Given the description of an element on the screen output the (x, y) to click on. 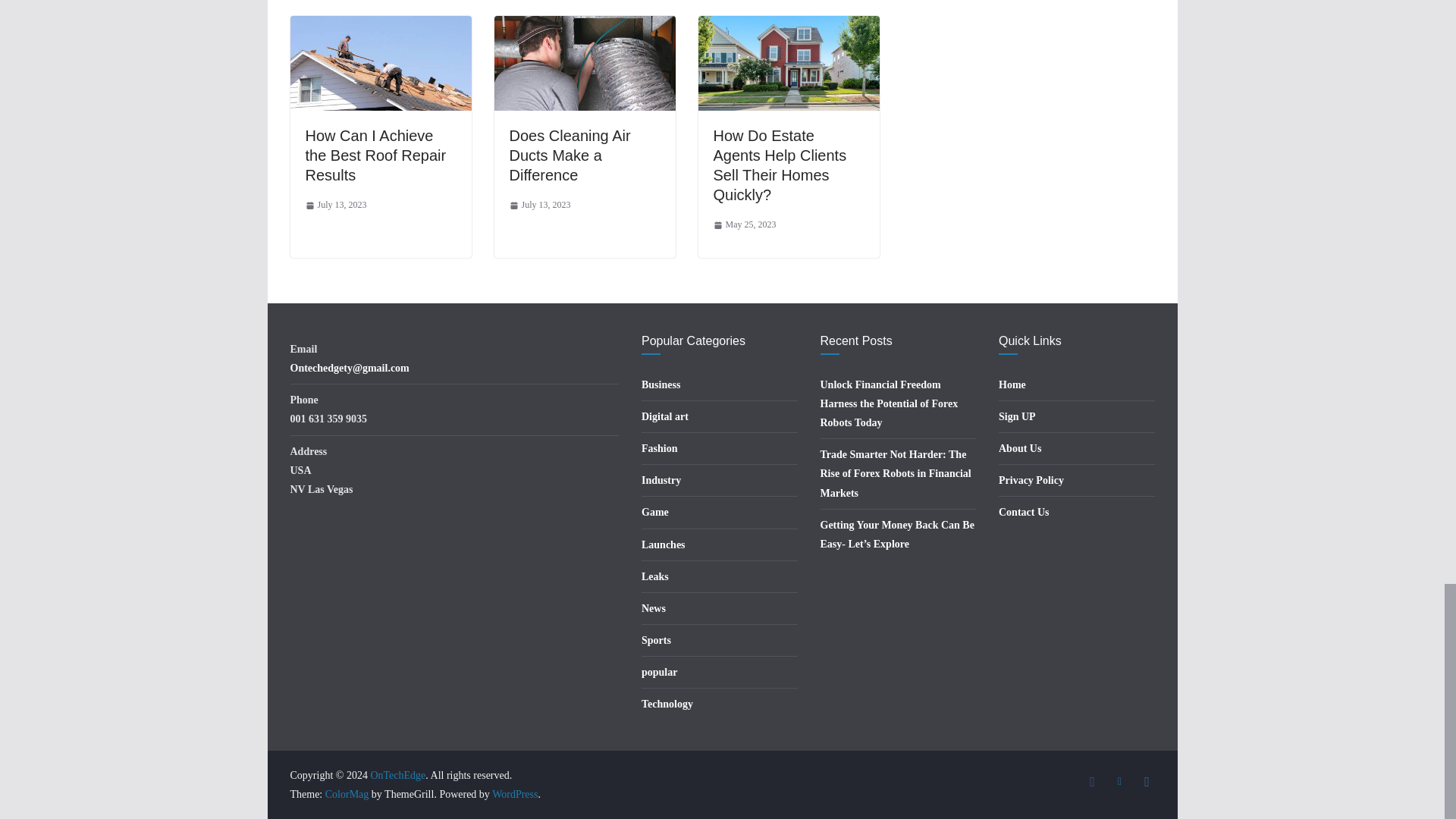
How Do Estate Agents Help Clients Sell Their Homes Quickly? (779, 165)
How Do Estate Agents Help Clients Sell Their Homes Quickly? (788, 25)
How Can I Achieve the Best Roof Repair Results (374, 155)
Does Cleaning Air Ducts Make a Difference (569, 155)
Does Cleaning Air Ducts Make a Difference (569, 155)
How Can I Achieve the Best Roof Repair Results (374, 155)
Does Cleaning Air Ducts Make a Difference (585, 25)
How Can I Achieve the Best Roof Repair Results (379, 25)
July 13, 2023 (335, 205)
7:57 pm (335, 205)
July 13, 2023 (539, 205)
8:03 pm (539, 205)
How Do Estate Agents Help Clients Sell Their Homes Quickly? (779, 165)
May 25, 2023 (744, 225)
